Given the description of an element on the screen output the (x, y) to click on. 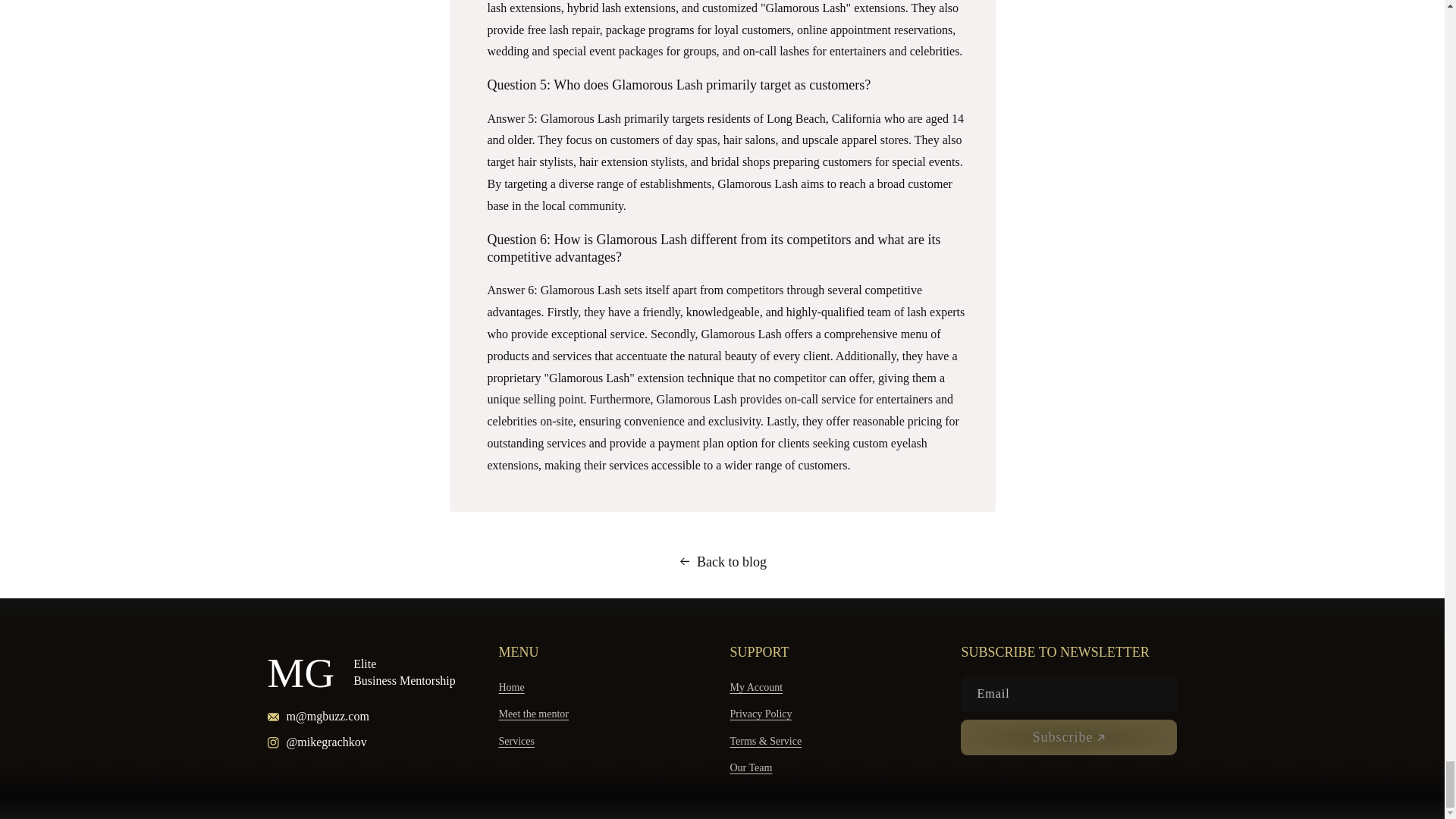
My Account (756, 689)
Our Team (750, 767)
Meet the mentor (534, 714)
Services (516, 741)
Subscribe (1067, 737)
Privacy Policy (760, 714)
Home (511, 689)
